Given the description of an element on the screen output the (x, y) to click on. 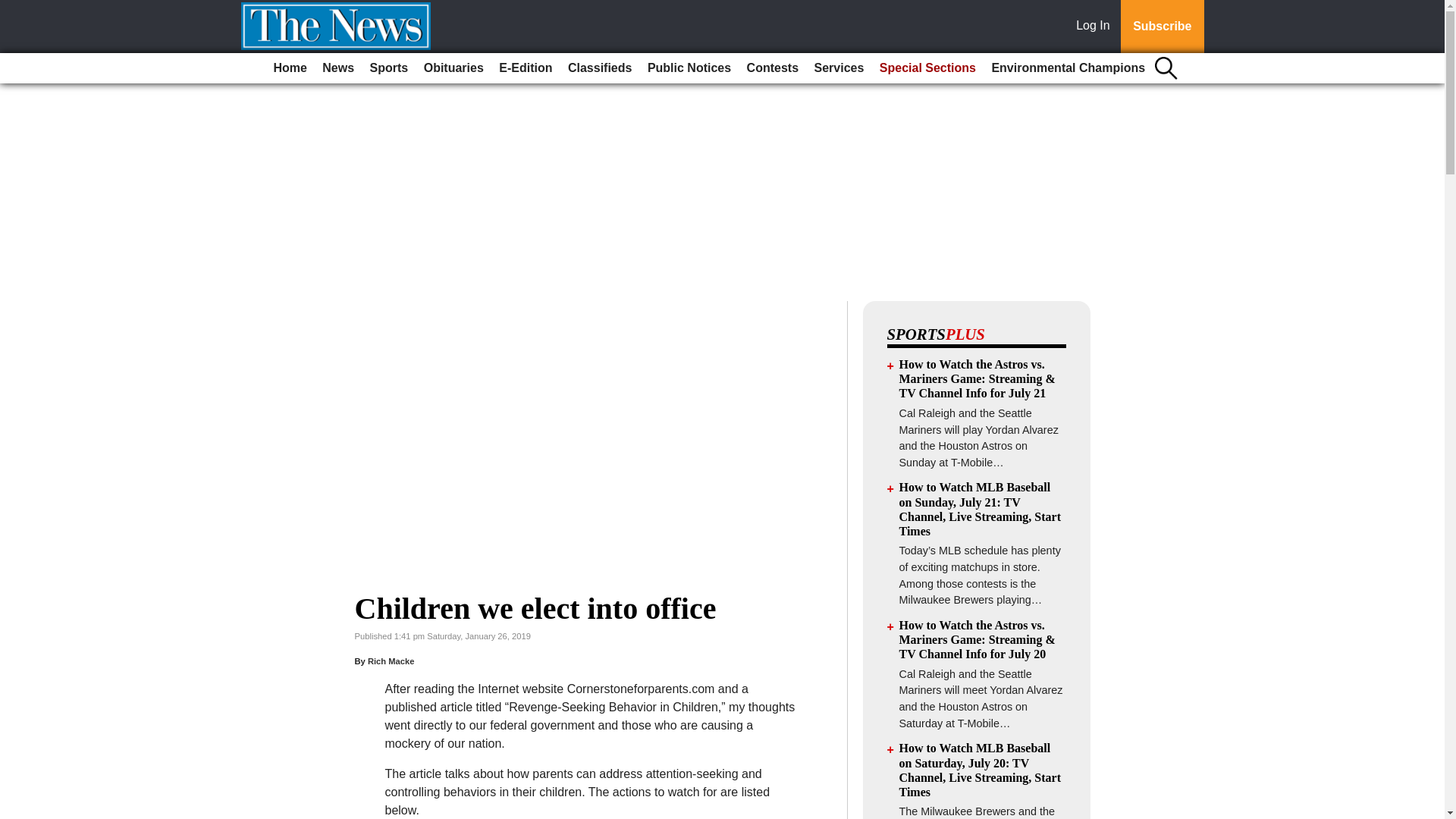
Subscribe (1162, 26)
Home (289, 68)
News (337, 68)
Log In (1095, 26)
Services (839, 68)
Rich Macke (391, 660)
Go (13, 9)
Obituaries (453, 68)
Sports (389, 68)
Special Sections (927, 68)
Classifieds (599, 68)
Contests (773, 68)
Environmental Champions (1068, 68)
